Given the description of an element on the screen output the (x, y) to click on. 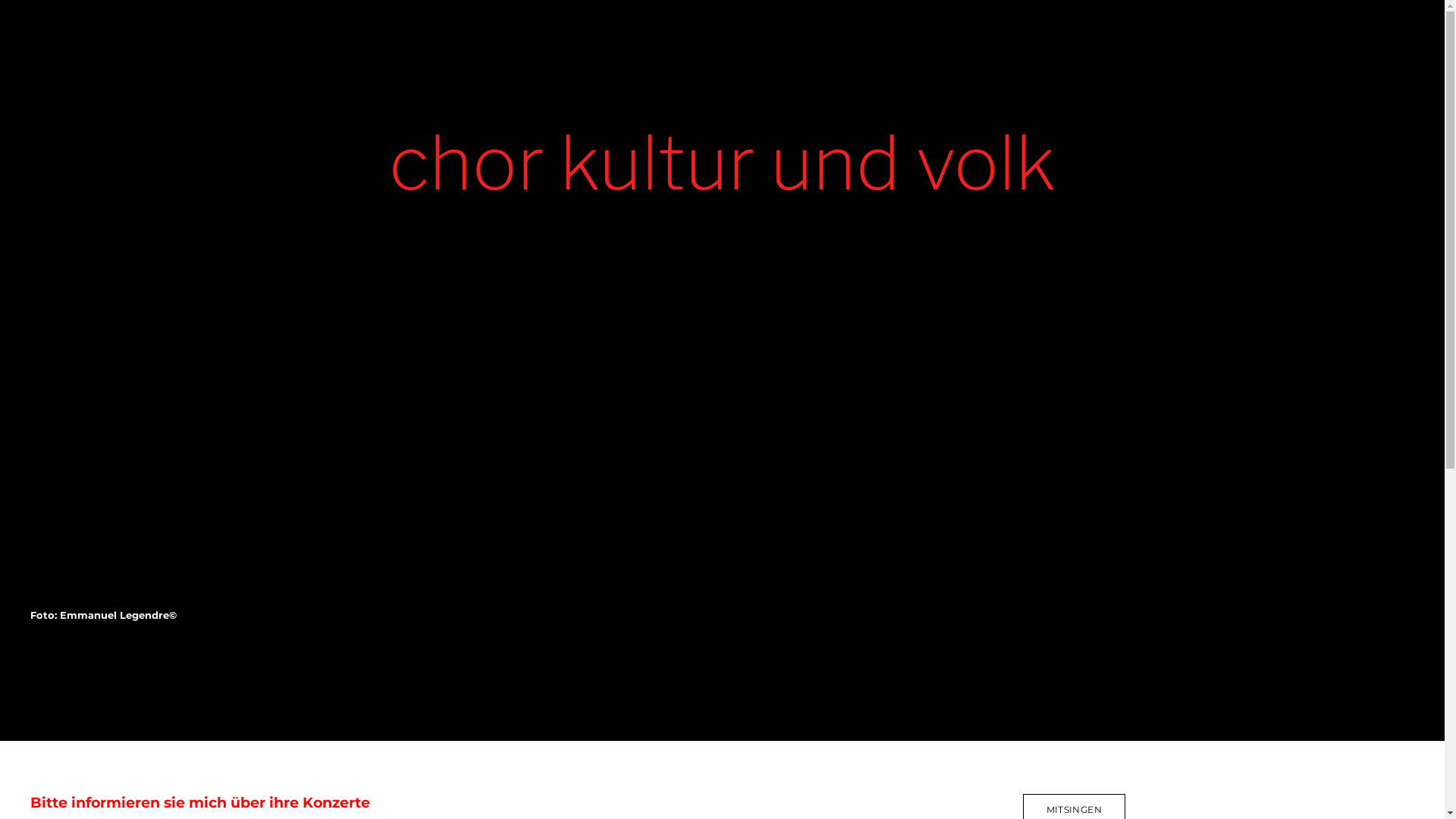
chor kultur und volk Element type: text (722, 162)
